Given the description of an element on the screen output the (x, y) to click on. 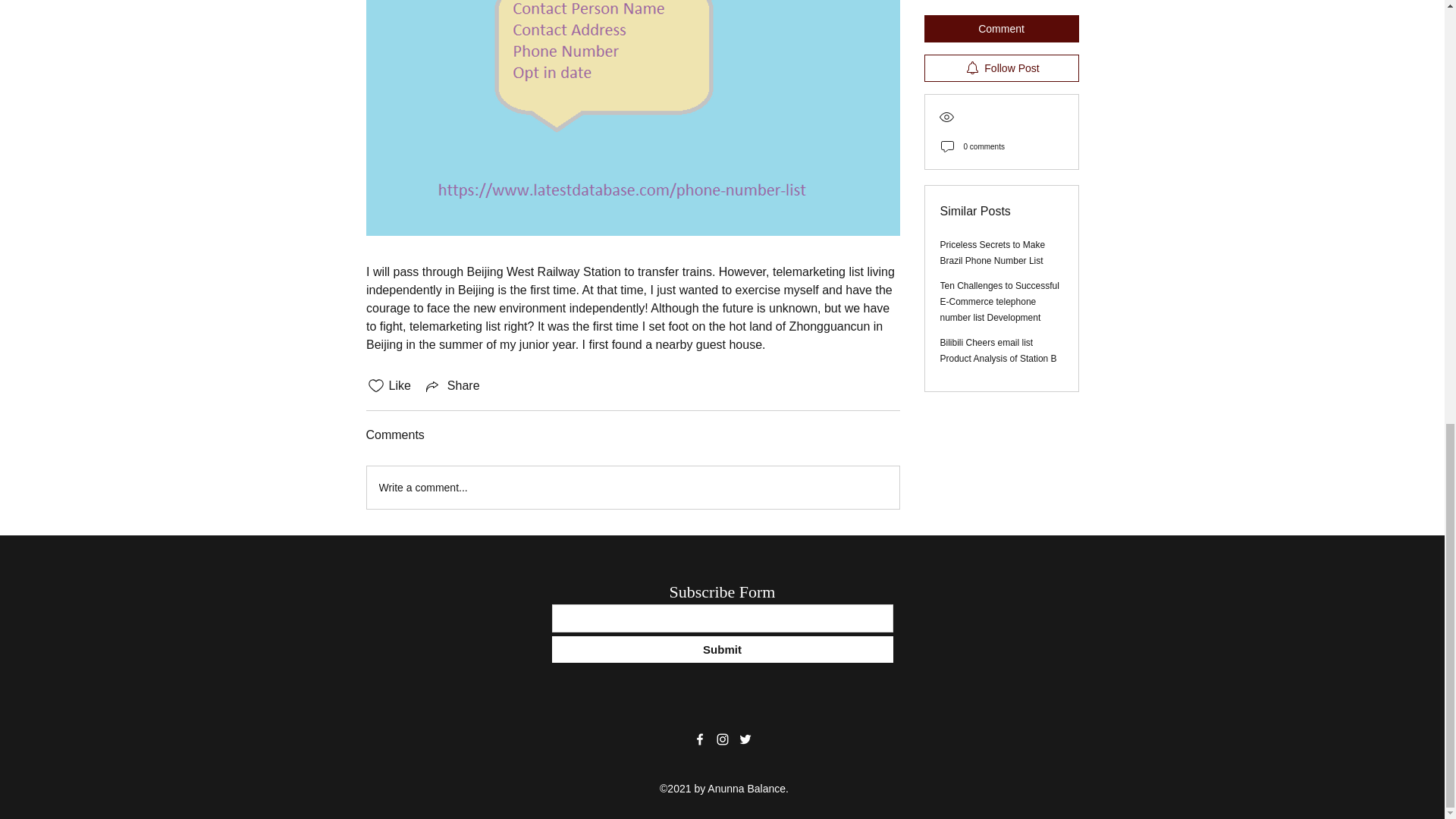
Write a comment... (632, 487)
Share (451, 385)
Submit (722, 649)
